Given the description of an element on the screen output the (x, y) to click on. 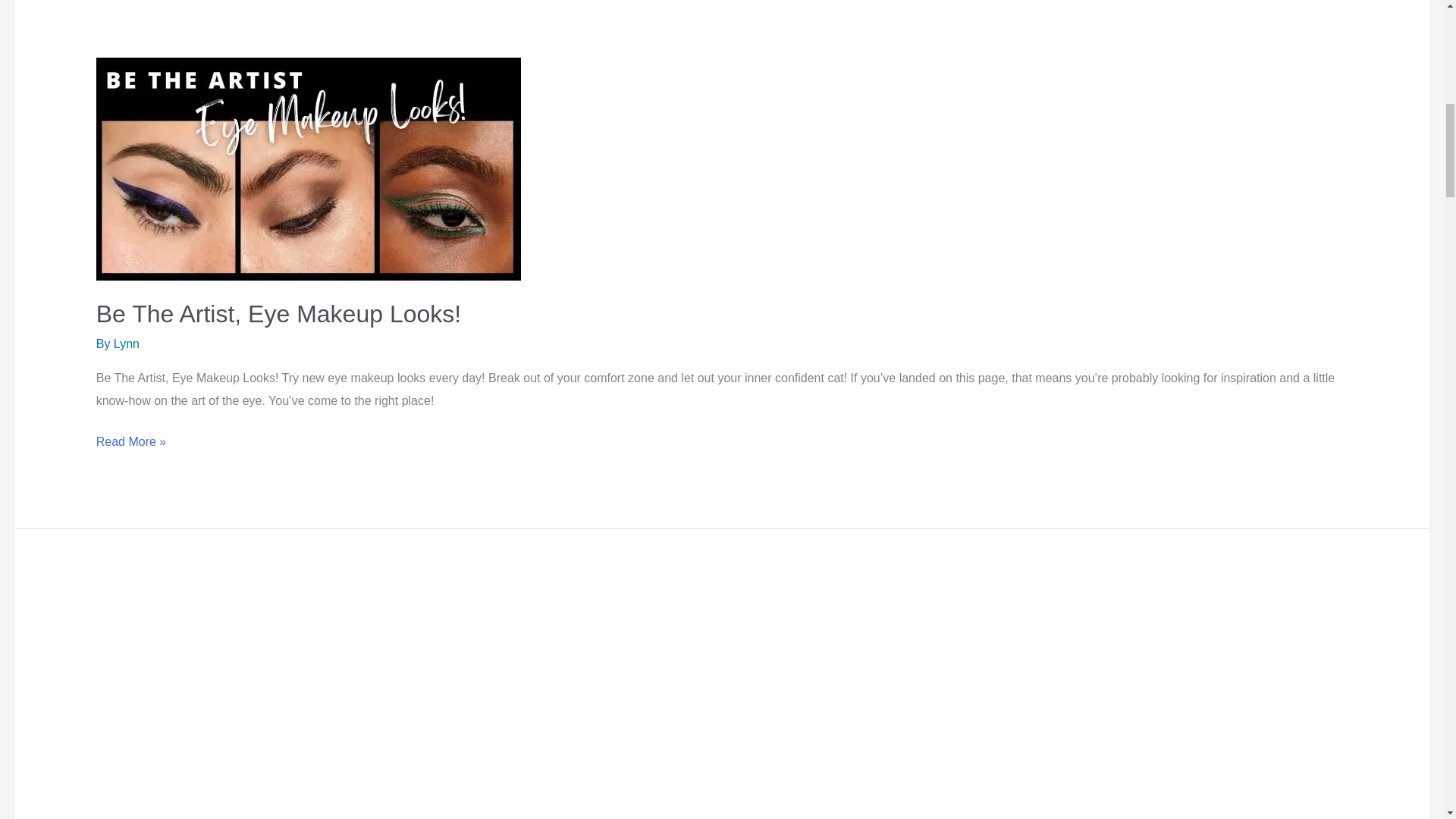
Lynn (126, 343)
View all posts by Lynn (126, 343)
Be The Artist, Eye Makeup Looks! (278, 313)
